Given the description of an element on the screen output the (x, y) to click on. 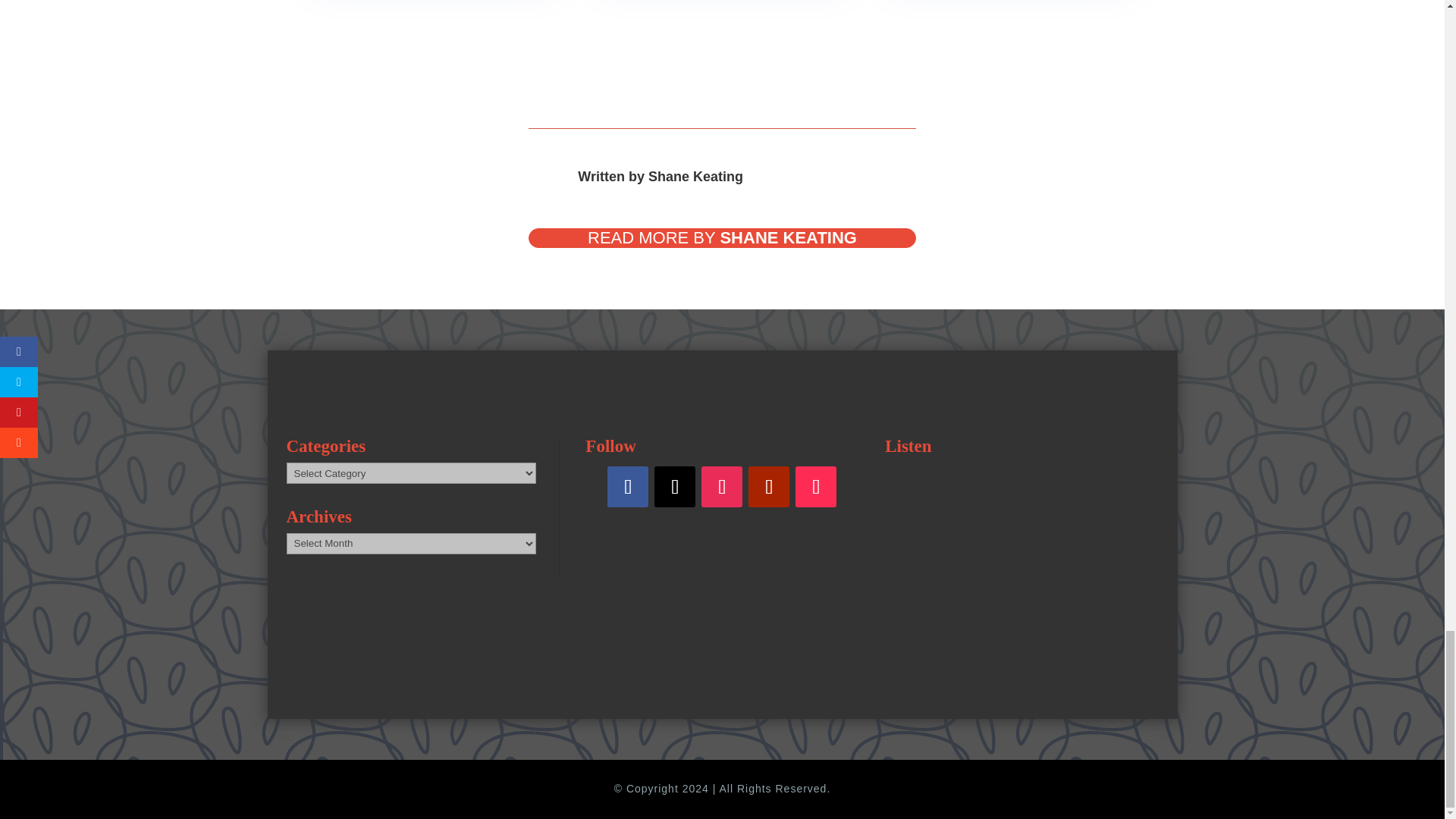
Follow on TikTok (814, 486)
Follow on Instagram (721, 486)
Follow on Facebook (627, 486)
Follow on X (674, 486)
Follow on Youtube (768, 486)
